Given the description of an element on the screen output the (x, y) to click on. 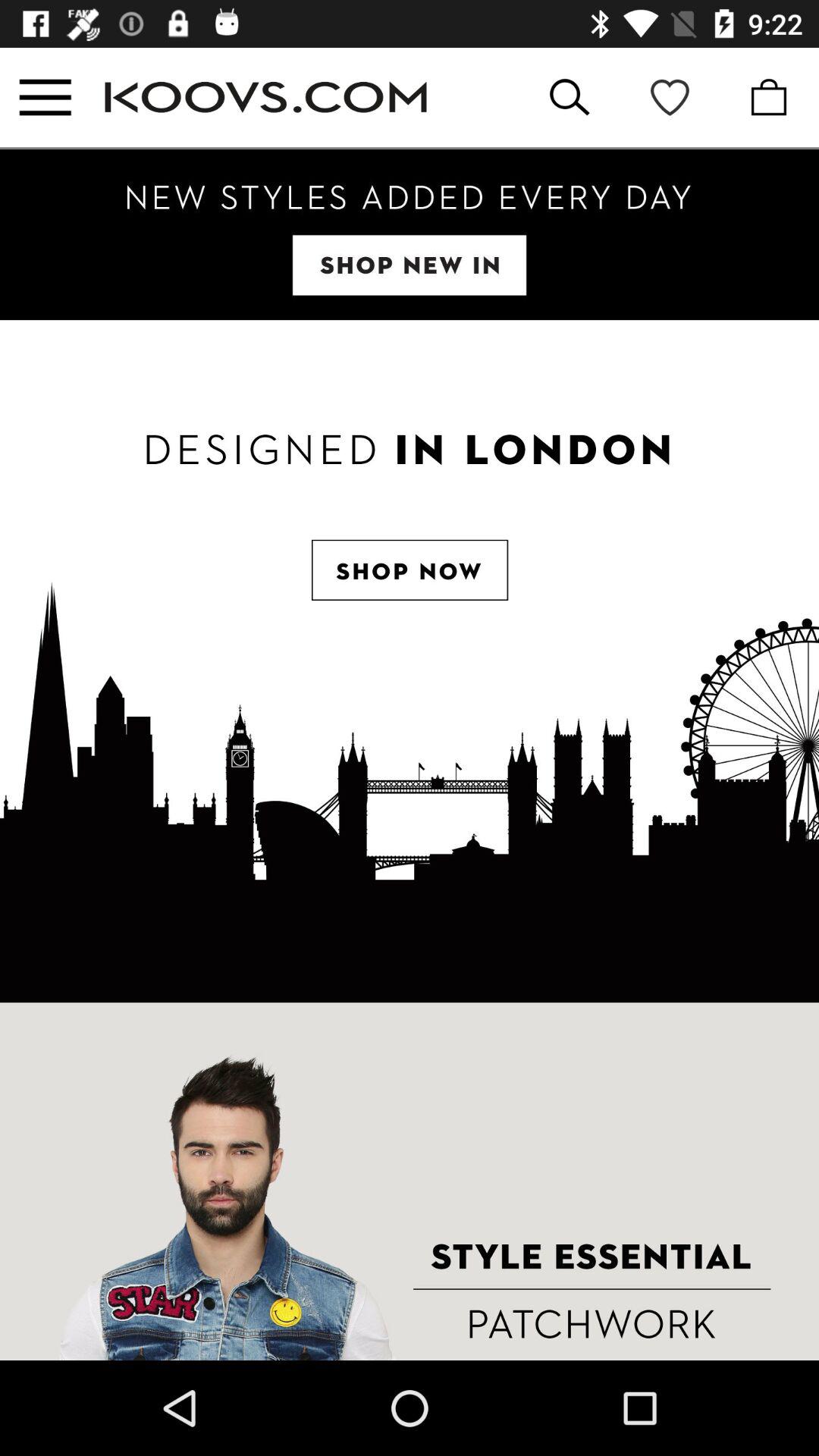
main menu (44, 97)
